Given the description of an element on the screen output the (x, y) to click on. 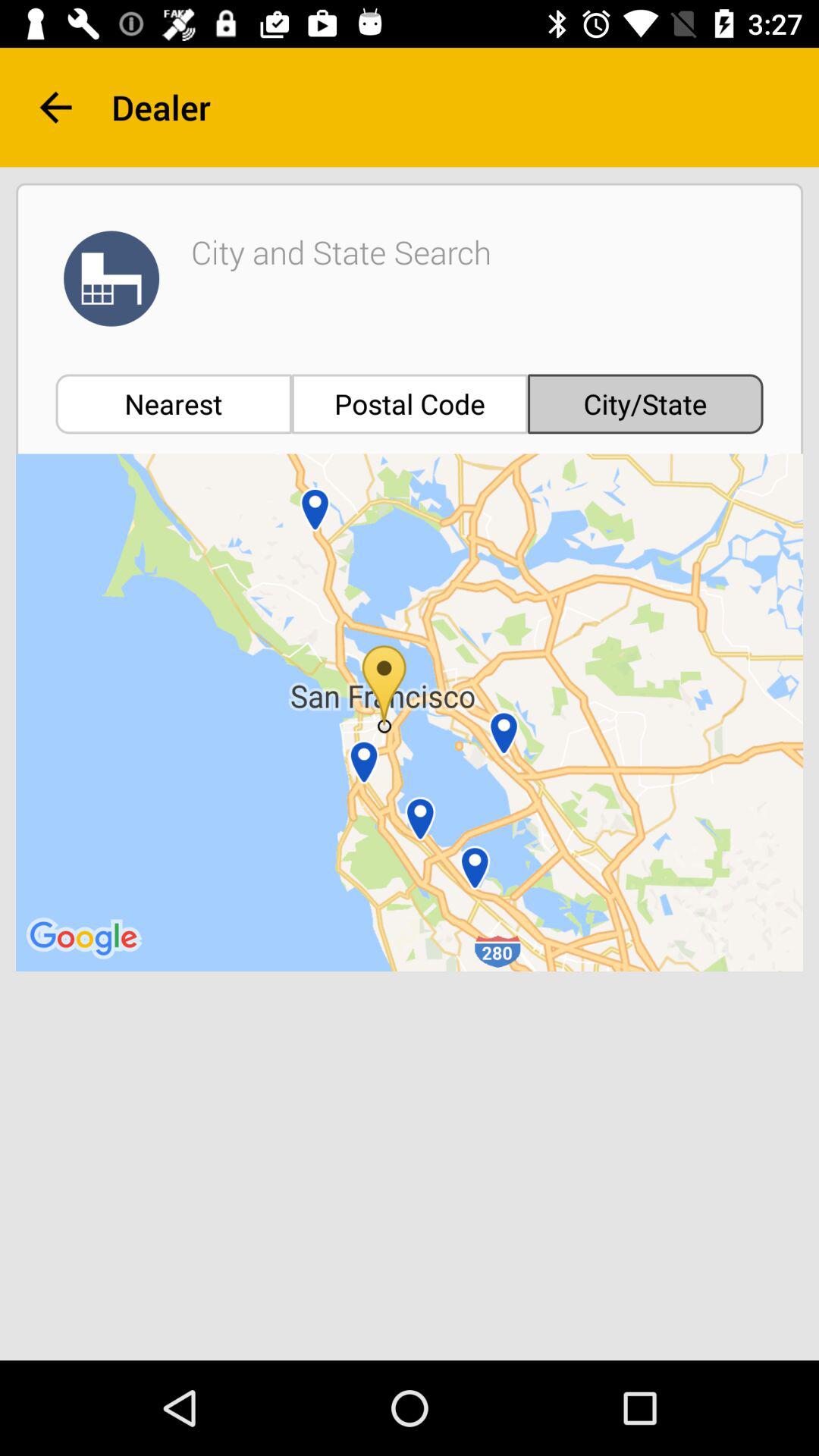
choose postal code (409, 403)
